Given the description of an element on the screen output the (x, y) to click on. 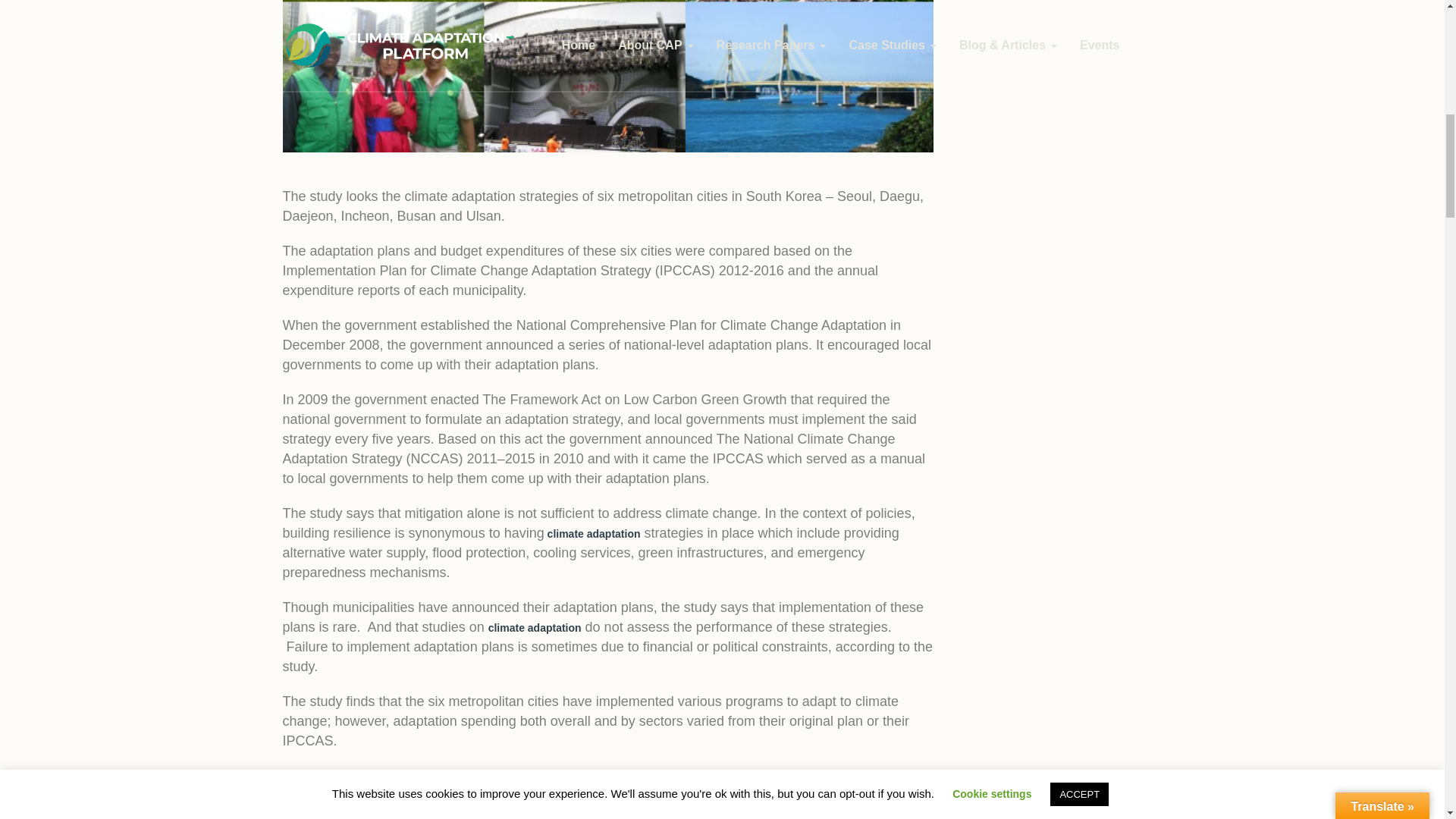
climate change adaptation strategy south korea (607, 76)
